Given the description of an element on the screen output the (x, y) to click on. 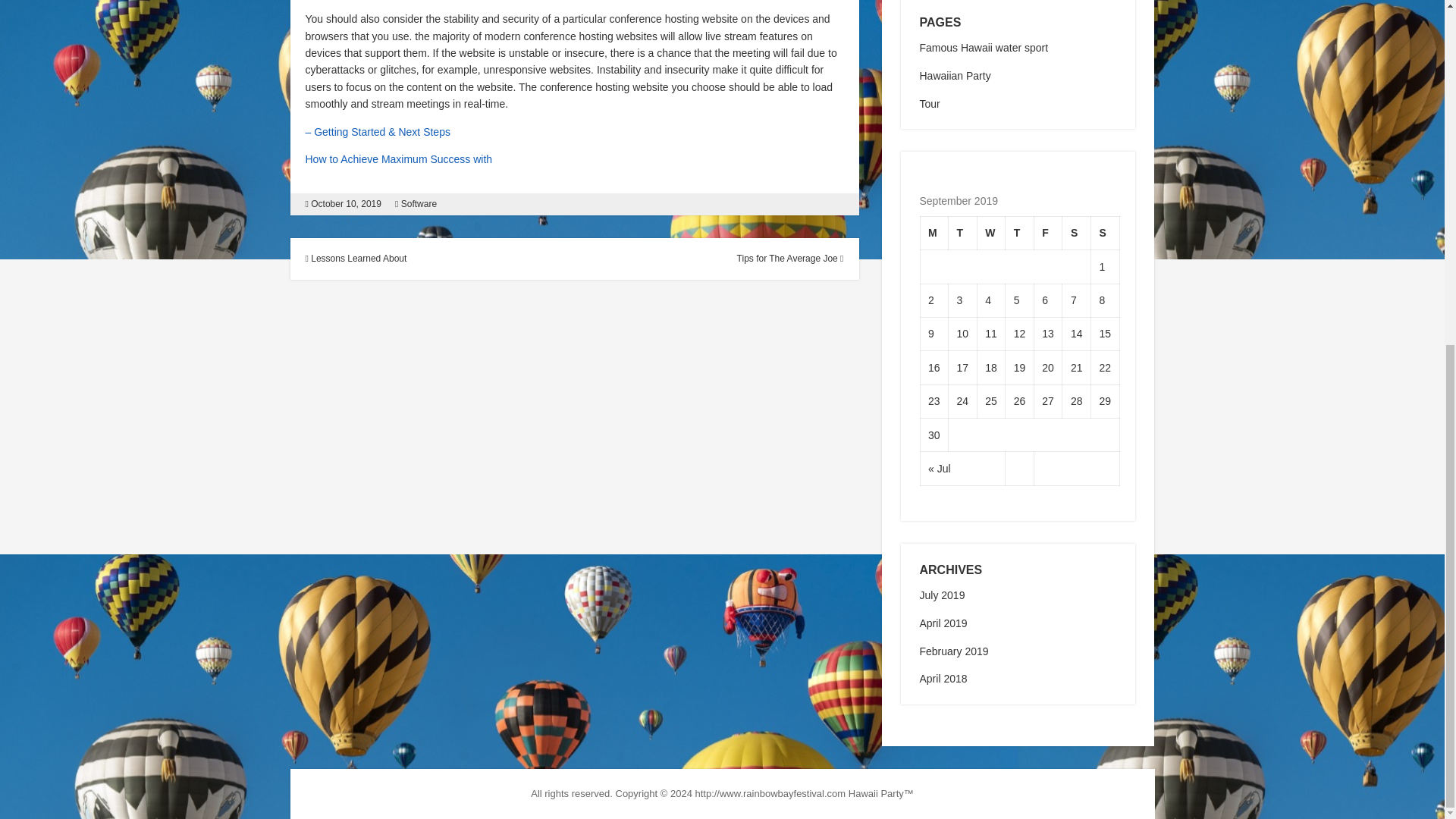
Hawaiian Party (954, 75)
February 2019 (953, 651)
Tour (928, 103)
October 10, 2019 (346, 204)
Famous Hawaii water sport (983, 47)
April 2019 (942, 623)
July 2019 (940, 594)
Hawaii Party (876, 793)
Software (418, 204)
How to Achieve Maximum Success with (398, 159)
